Given the description of an element on the screen output the (x, y) to click on. 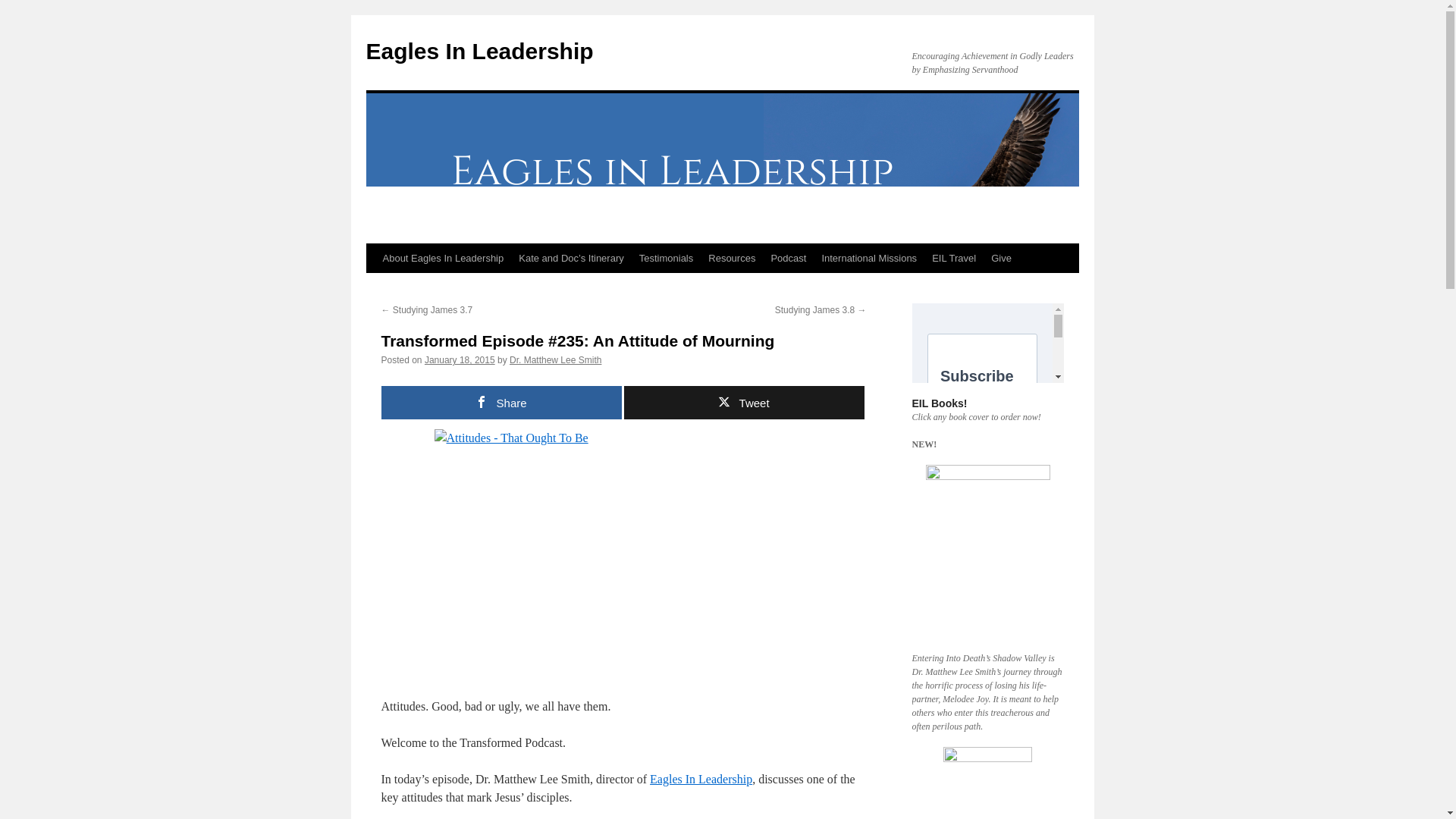
About Eagles In Leadership (442, 258)
Dr. Matthew Lee Smith (555, 359)
Resources (731, 258)
Give (1001, 258)
Share (500, 402)
January 18, 2015 (460, 359)
International Missions (868, 258)
Testimonials (666, 258)
6:00 am (460, 359)
View all posts by Dr. Matthew Lee Smith (555, 359)
